Given the description of an element on the screen output the (x, y) to click on. 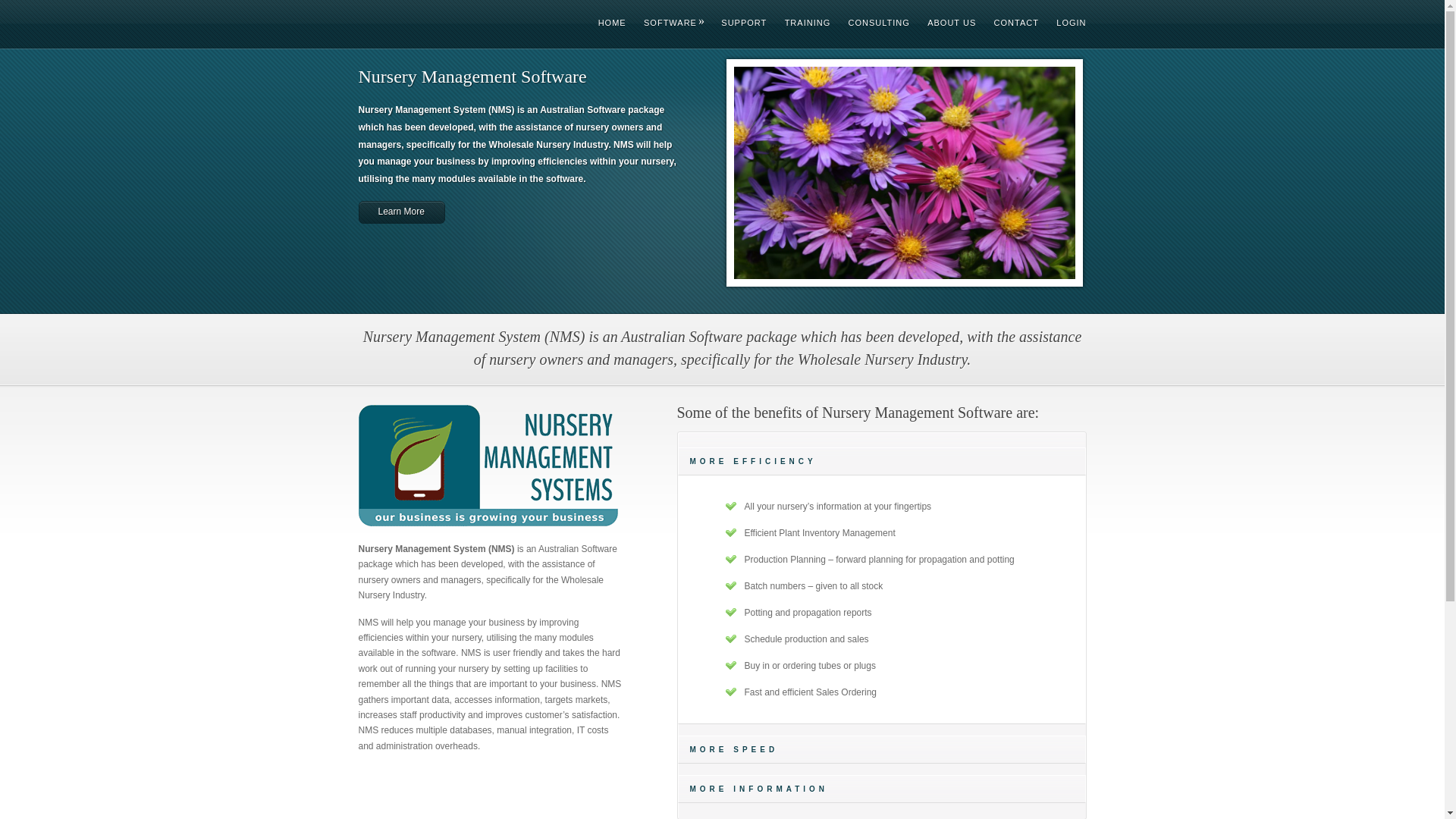
CONSULTING Element type: text (871, 22)
TRAINING Element type: text (800, 22)
SUPPORT Element type: text (736, 22)
logo2 Element type: hover (487, 472)
ABOUT US Element type: text (943, 22)
CONTACT Element type: text (1008, 22)
Learn More Element type: text (400, 212)
LOGIN Element type: text (1063, 22)
HOME Element type: text (604, 22)
